Given the description of an element on the screen output the (x, y) to click on. 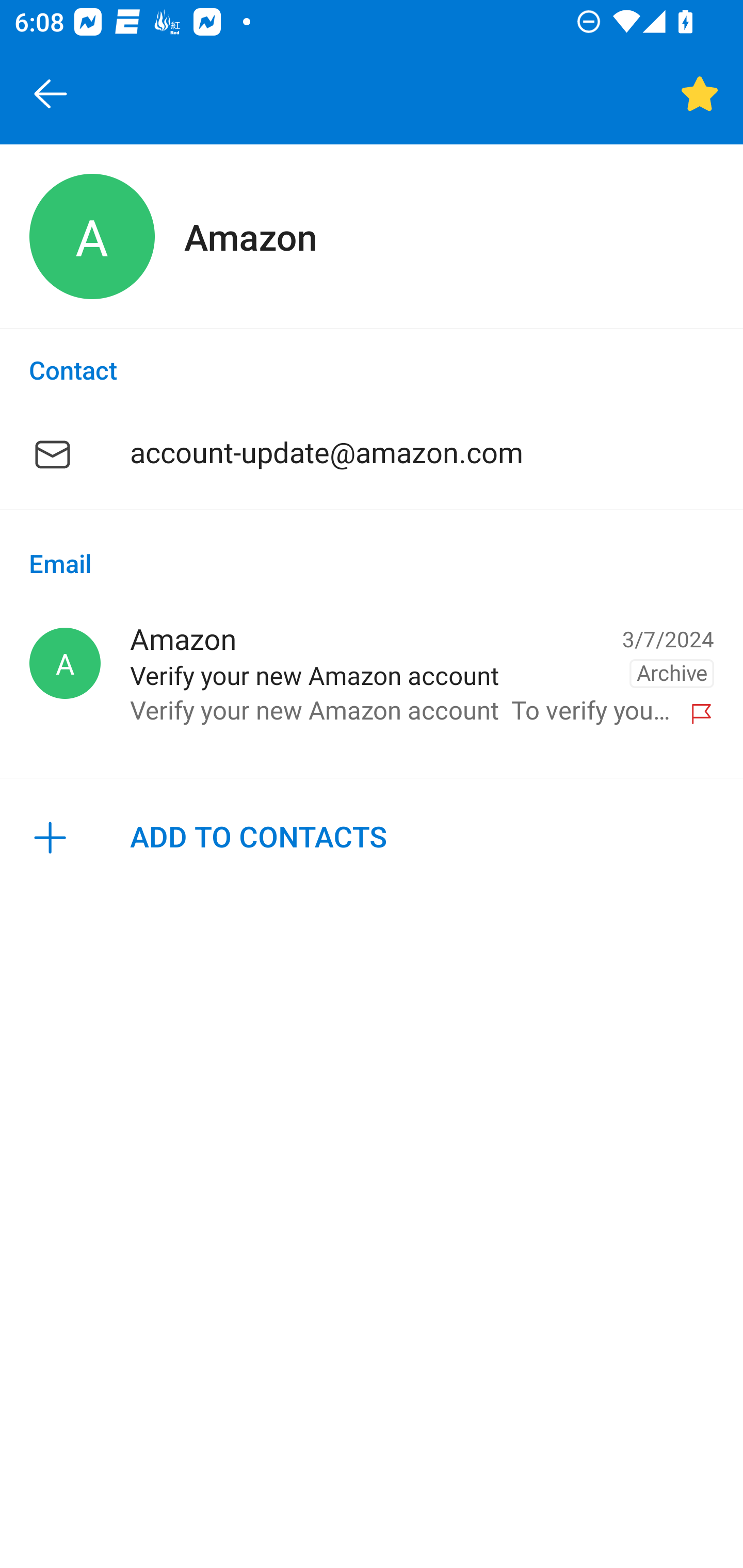
Back (50, 93)
Remove from favorites (699, 93)
ADD TO CONTACTS (371, 837)
